Given the description of an element on the screen output the (x, y) to click on. 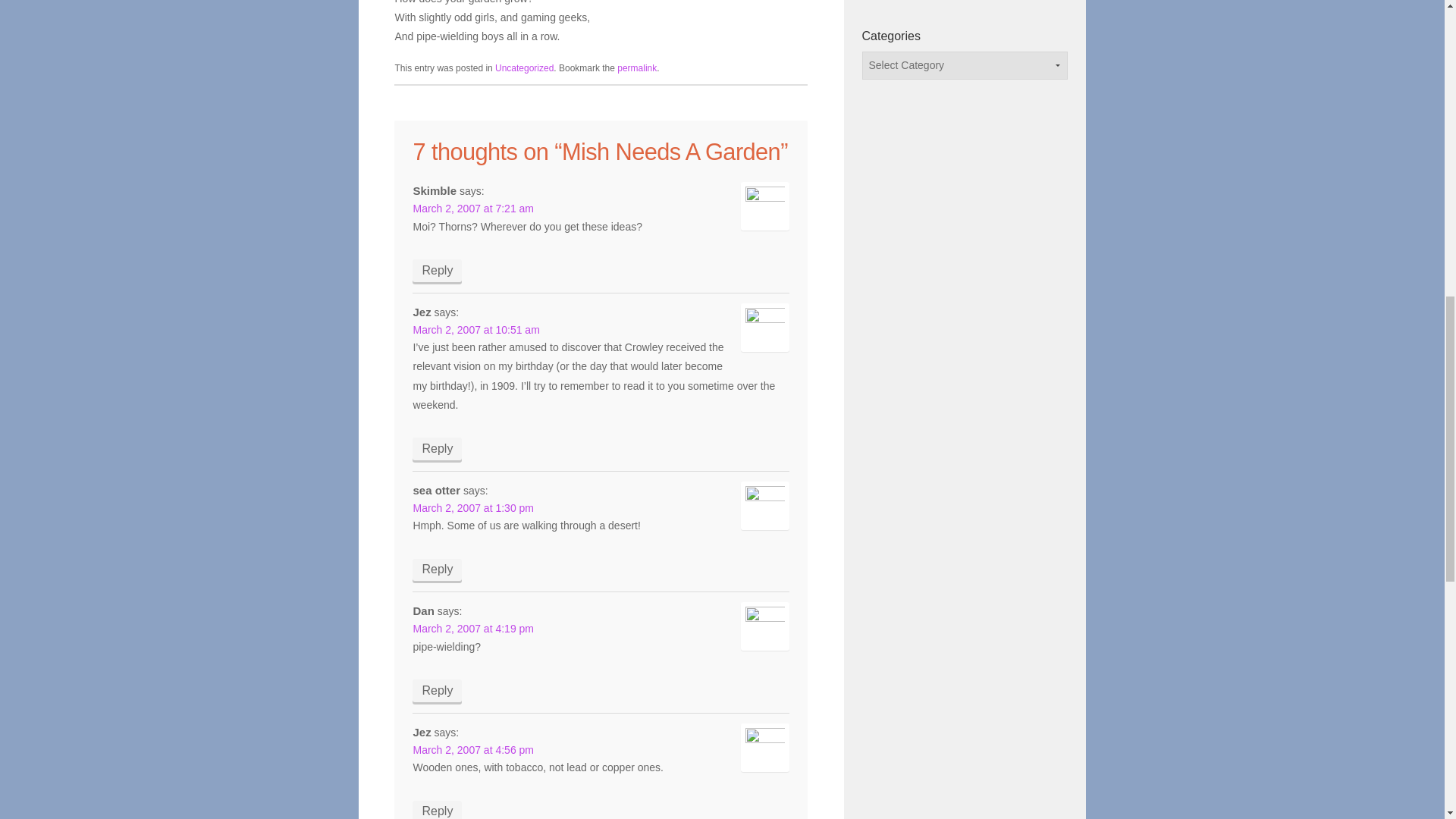
March 2, 2007 at 1:30 pm (473, 508)
Reply (436, 690)
Reply (436, 448)
March 2, 2007 at 4:19 pm (473, 628)
Uncategorized (524, 68)
March 2, 2007 at 10:51 am (475, 329)
March 2, 2007 at 7:21 am (473, 208)
Reply (436, 809)
Reply (436, 568)
Reply (436, 270)
March 2, 2007 at 4:56 pm (473, 749)
permalink (636, 68)
